Given the description of an element on the screen output the (x, y) to click on. 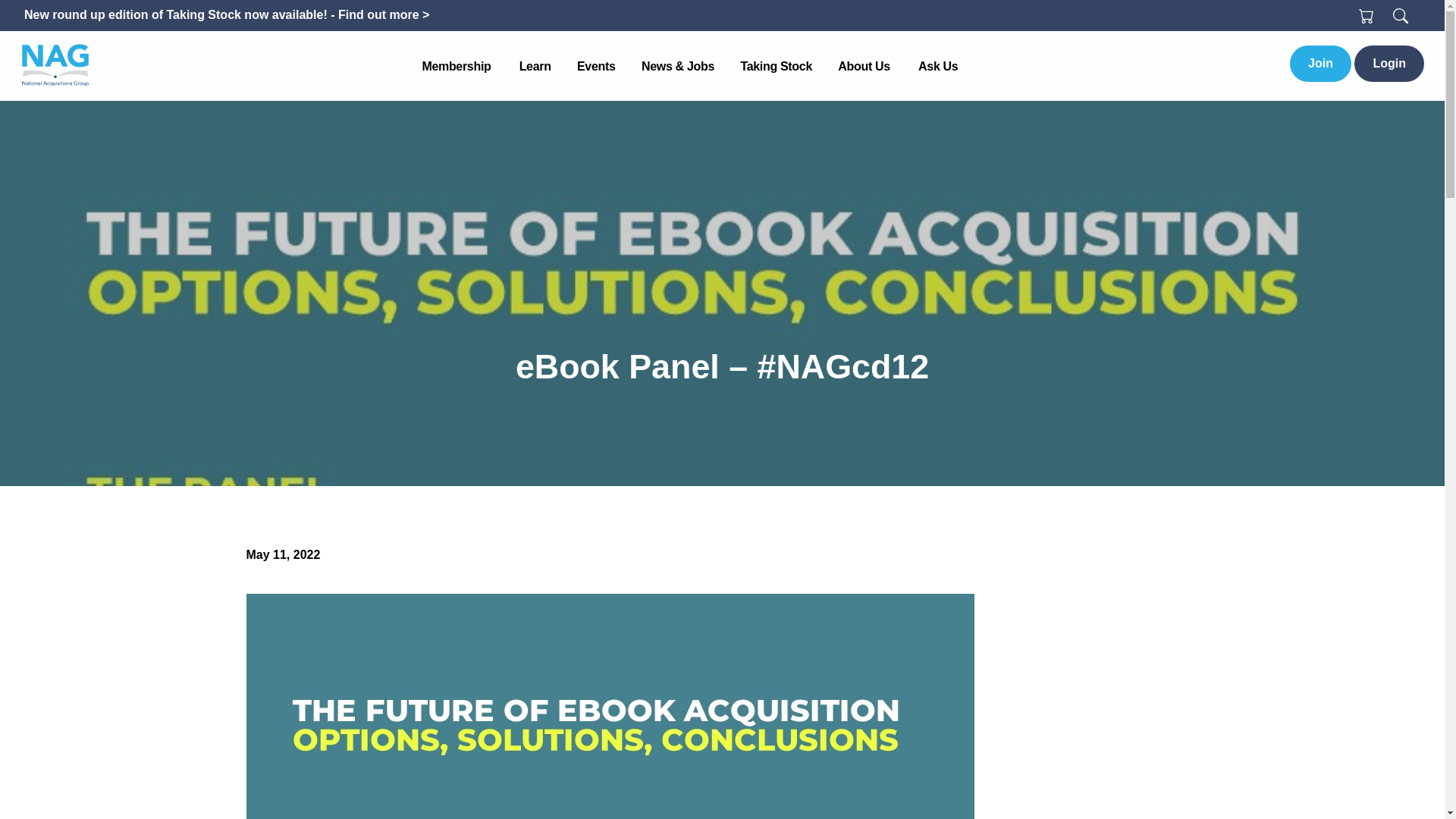
View your shopping cart (1366, 14)
Taking Stock (775, 67)
Membership (456, 67)
Learn (535, 67)
Events (595, 67)
